Given the description of an element on the screen output the (x, y) to click on. 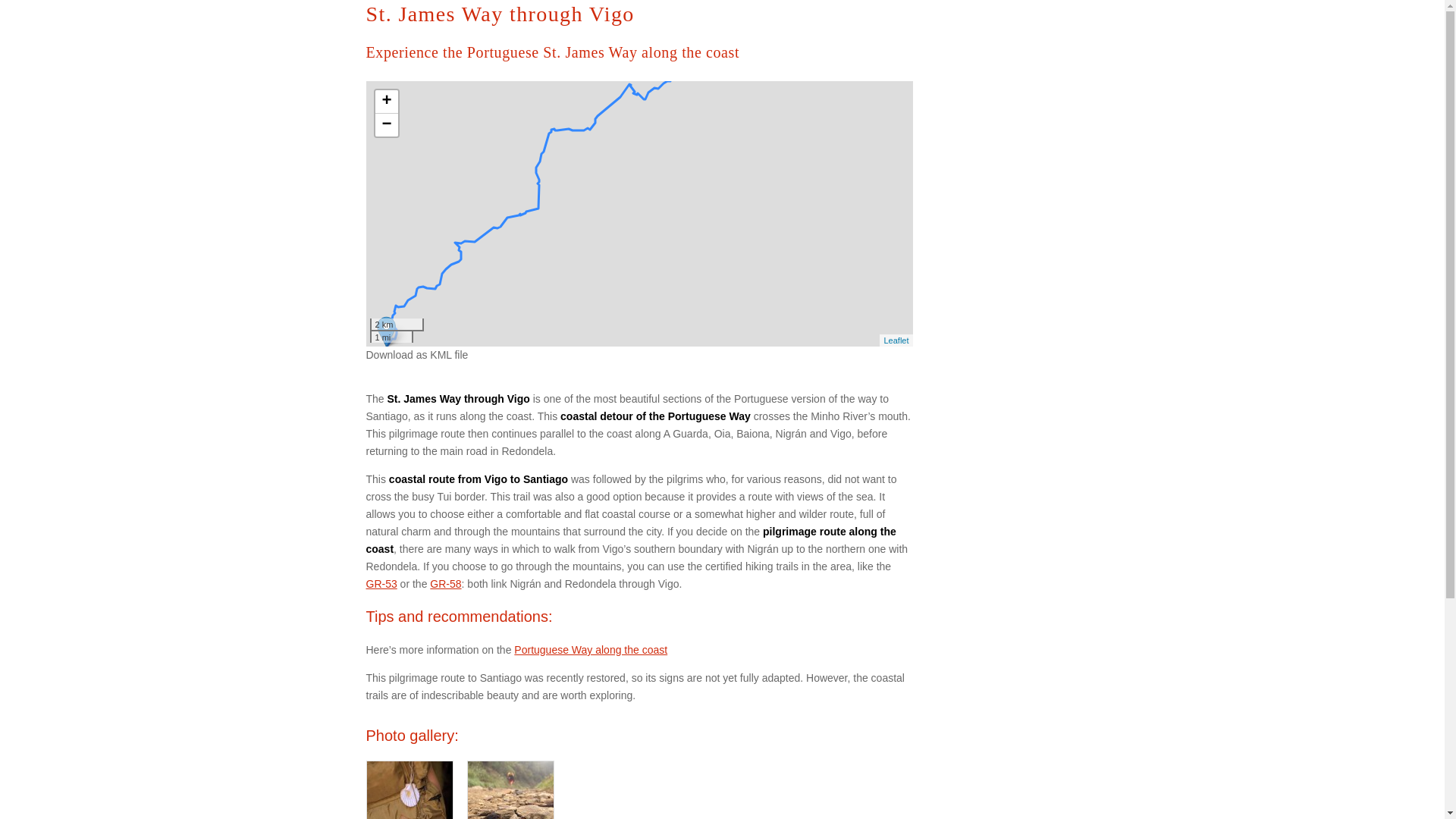
A JS library for interactive maps (895, 338)
Zoom in (385, 101)
Zoom out (385, 124)
